Given the description of an element on the screen output the (x, y) to click on. 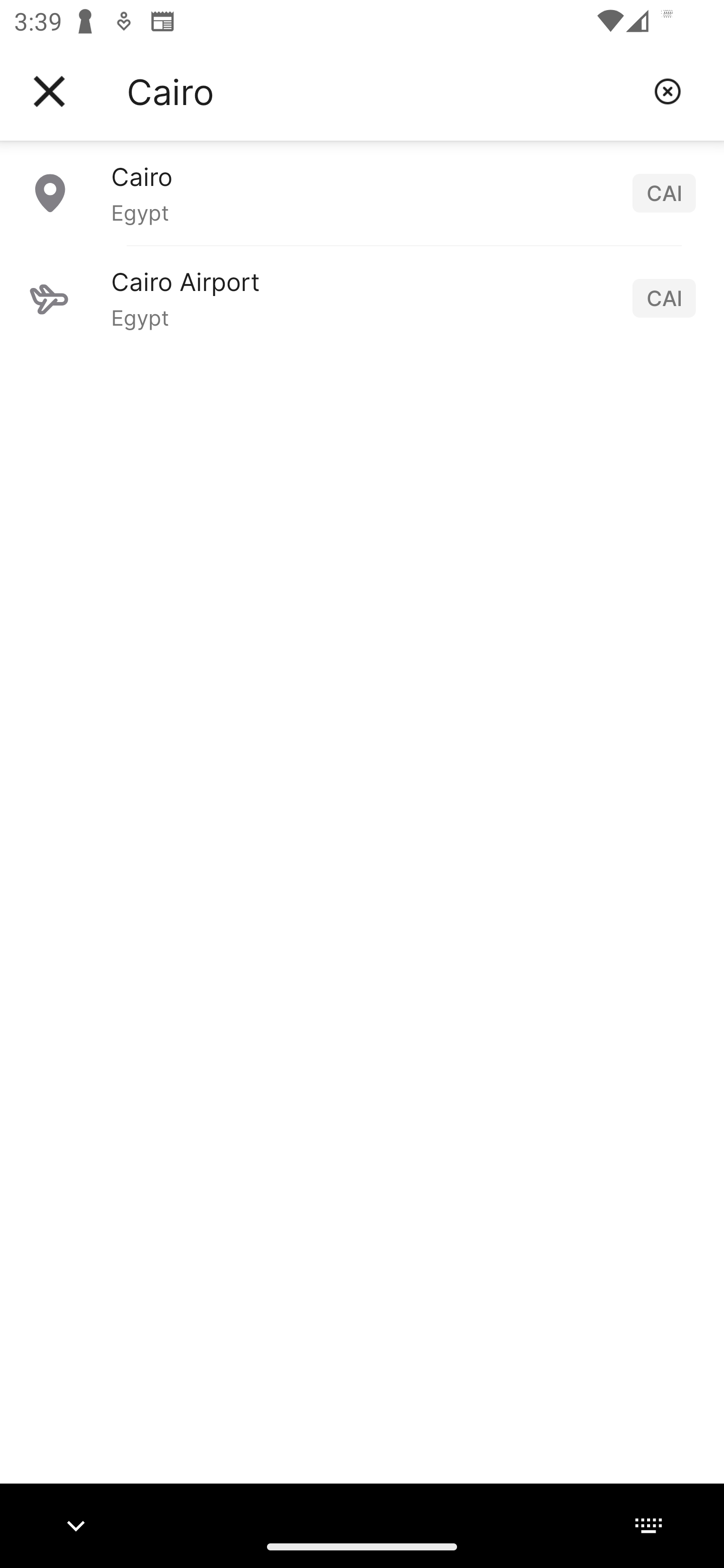
Cairo (382, 91)
Cairo Egypt CAI (362, 192)
Cairo Airport Egypt CAI (362, 297)
